Given the description of an element on the screen output the (x, y) to click on. 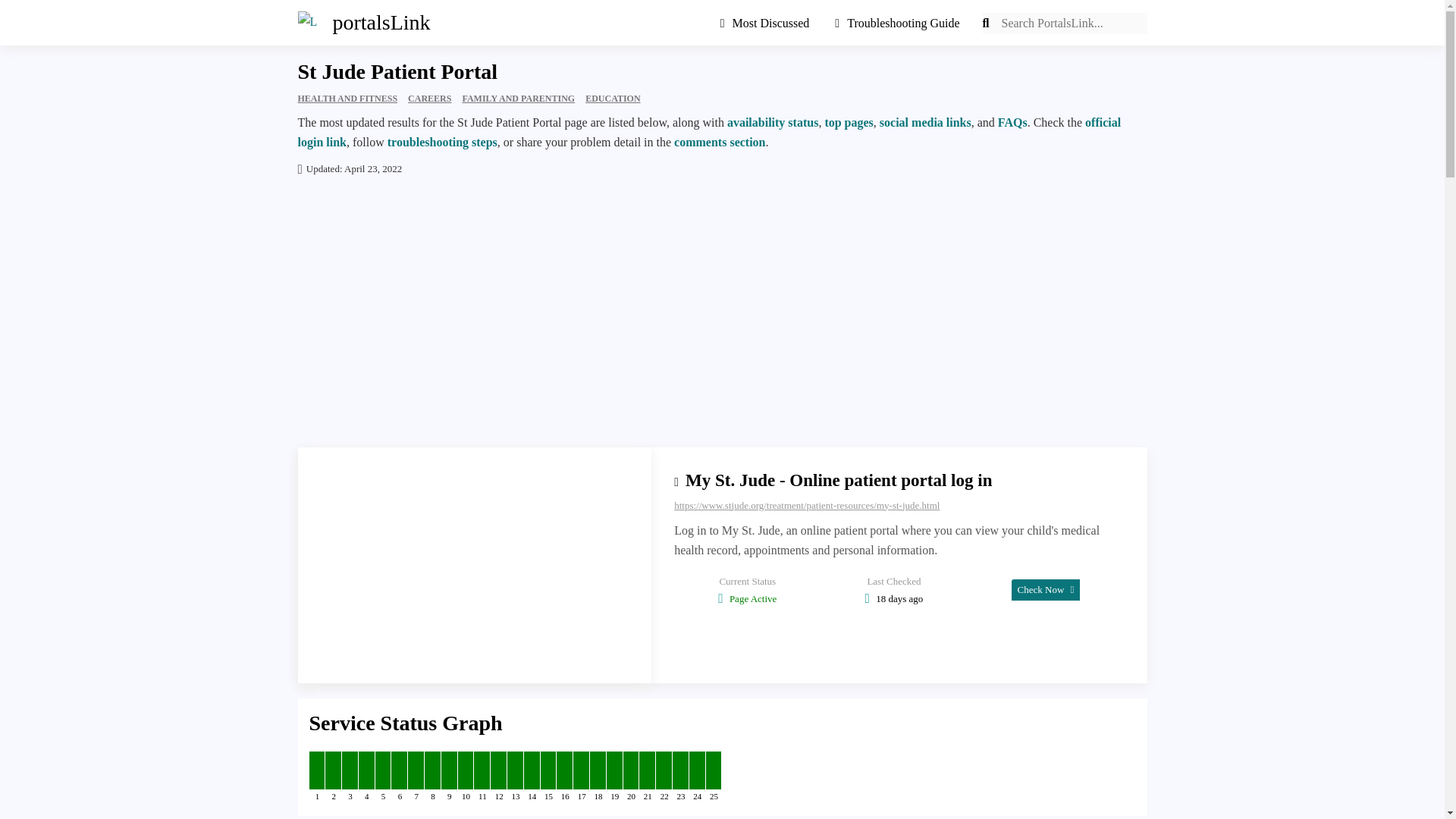
social media links (925, 122)
Most Discussed (770, 22)
comments section (719, 141)
FAQs (1012, 122)
My St. Jude - Online patient portal log in (838, 479)
official login link (709, 132)
portalsLink (355, 22)
top pages (848, 122)
troubleshooting steps (442, 141)
Recently Updated (770, 22)
My St. Jude - Online patient portal log in (838, 479)
availability status (772, 122)
Login Troubleshooting Guide (897, 22)
Check Now (1045, 589)
Troubleshooting Guide (897, 22)
